Given the description of an element on the screen output the (x, y) to click on. 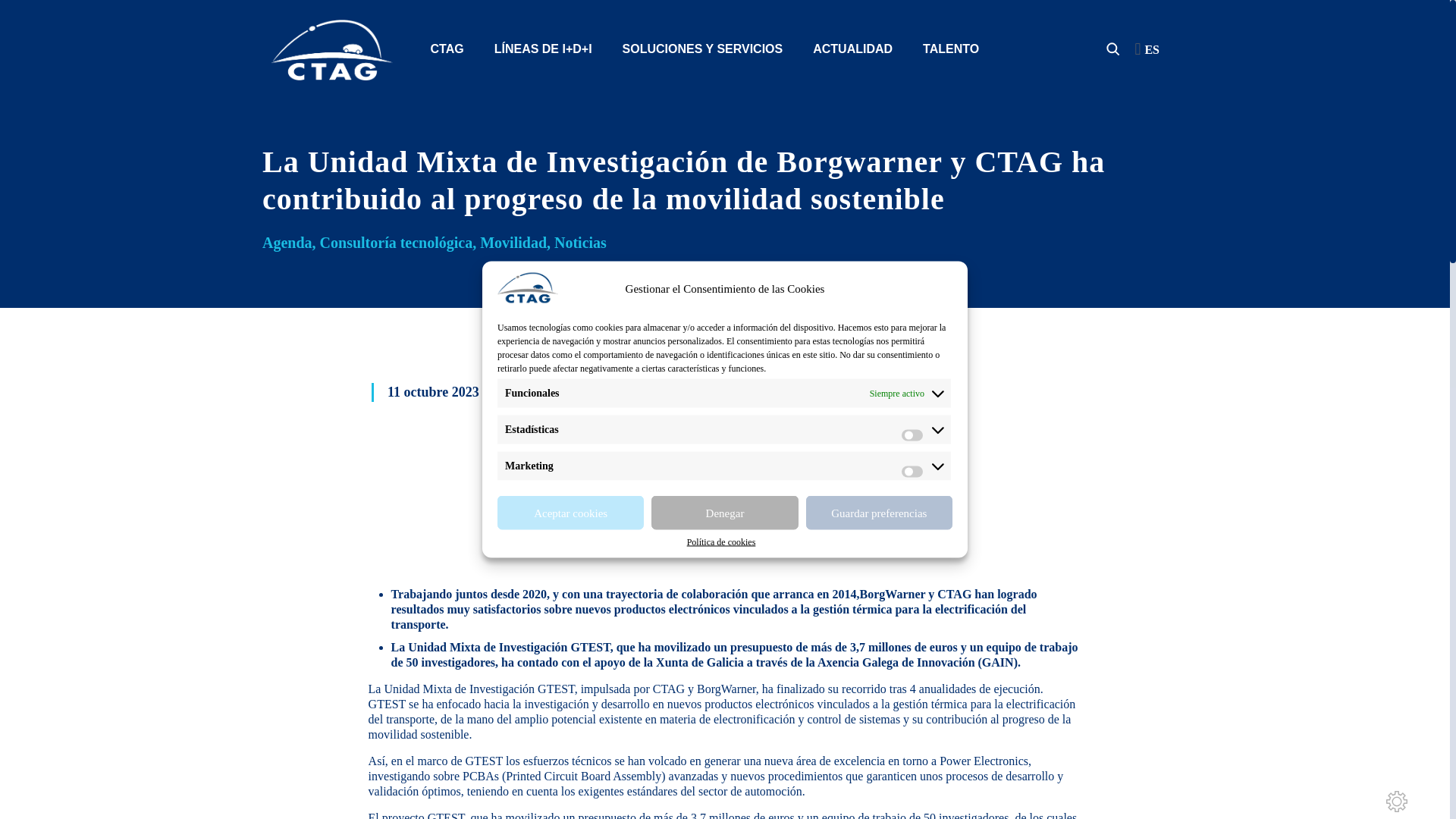
SOLUCIONES Y SERVICIOS (702, 49)
CTAG (446, 49)
CTAG (331, 48)
Guardar preferencias (879, 717)
Denegar (723, 783)
Aceptar cookies (570, 812)
